Given the description of an element on the screen output the (x, y) to click on. 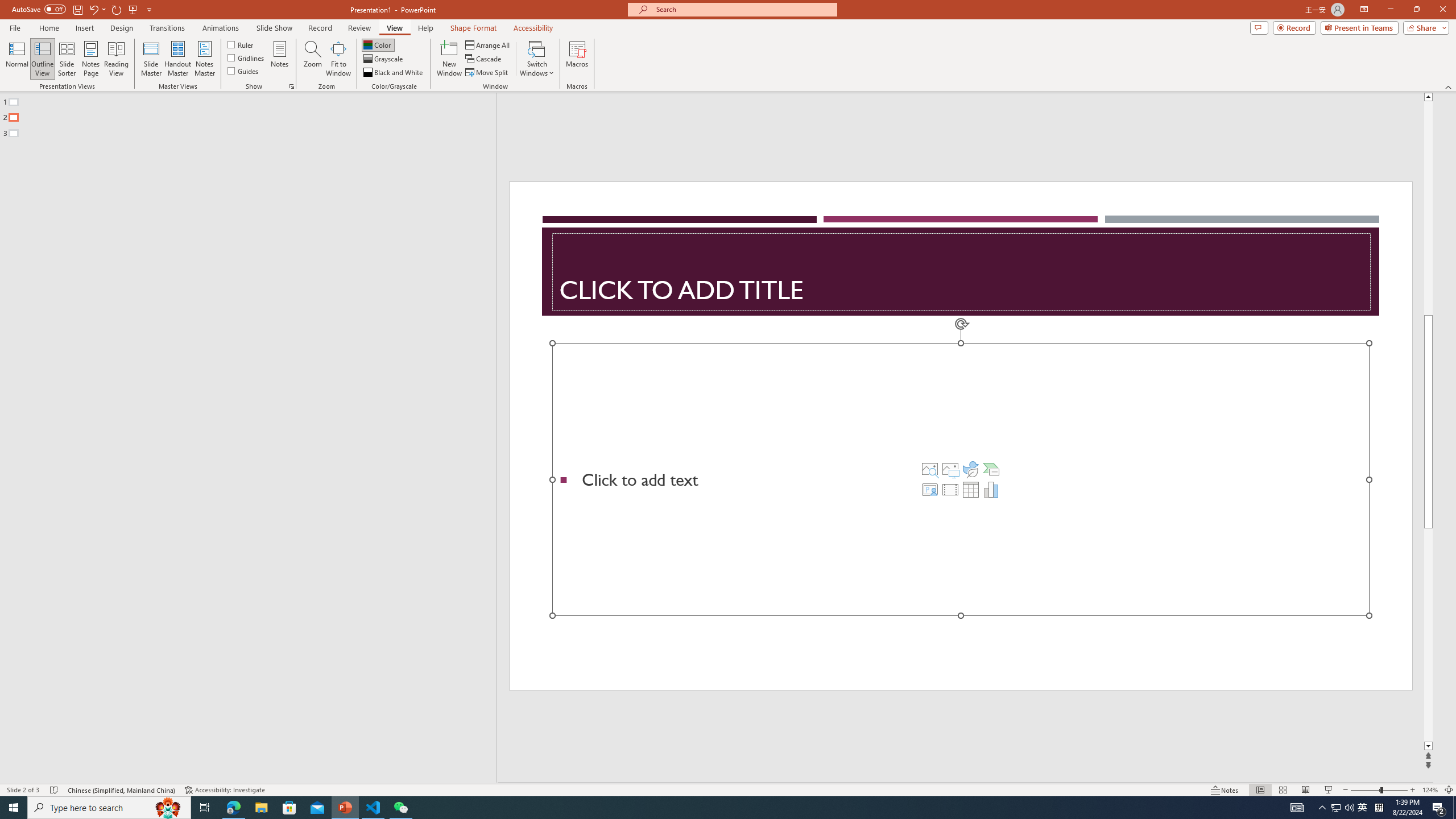
Cascade (484, 58)
Switch Windows (537, 58)
Macros (576, 58)
New Window (449, 58)
